Given the description of an element on the screen output the (x, y) to click on. 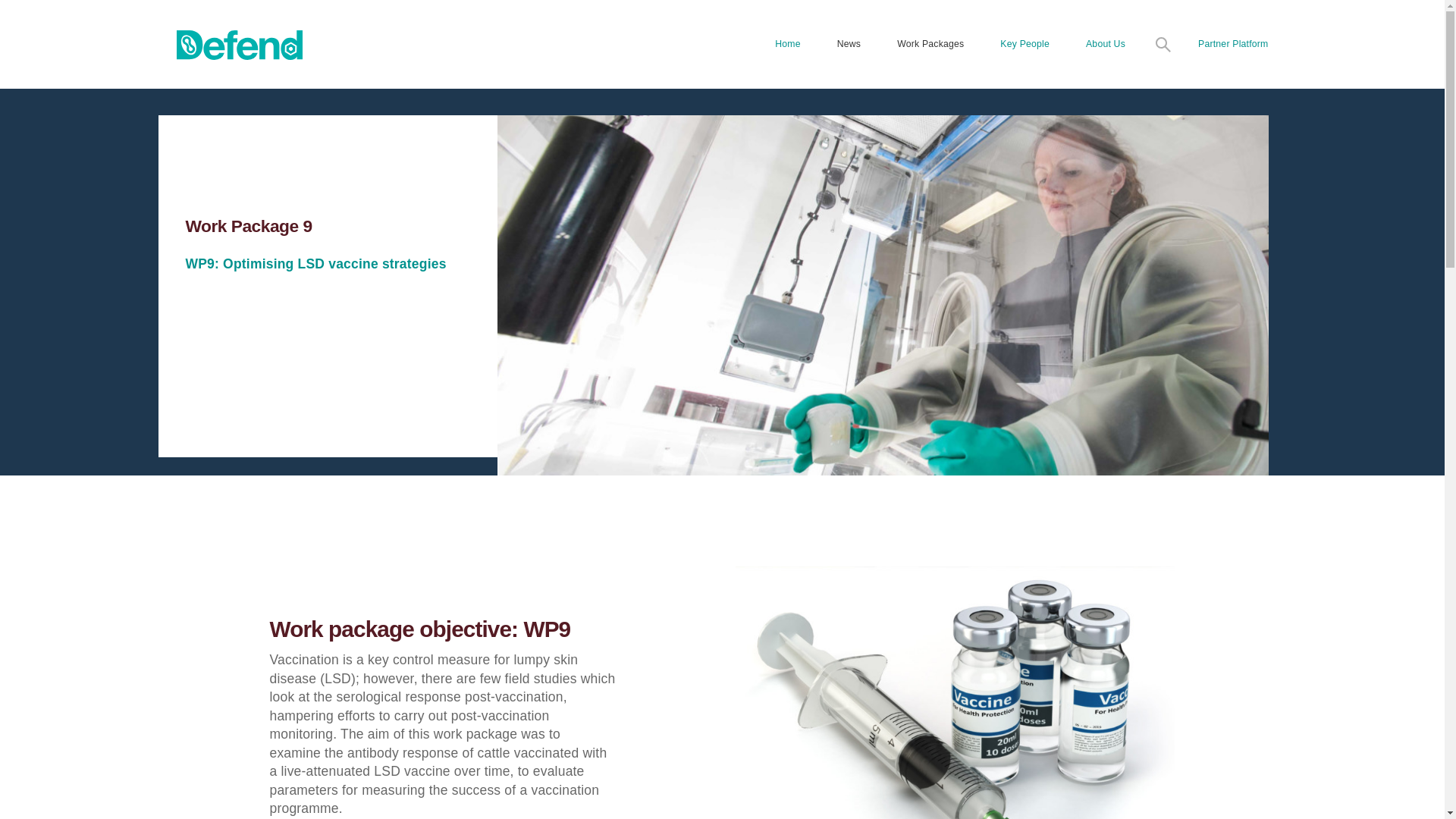
Work Packages (930, 44)
Key People (1024, 44)
Search (1217, 60)
Partner Platform (1232, 44)
